Given the description of an element on the screen output the (x, y) to click on. 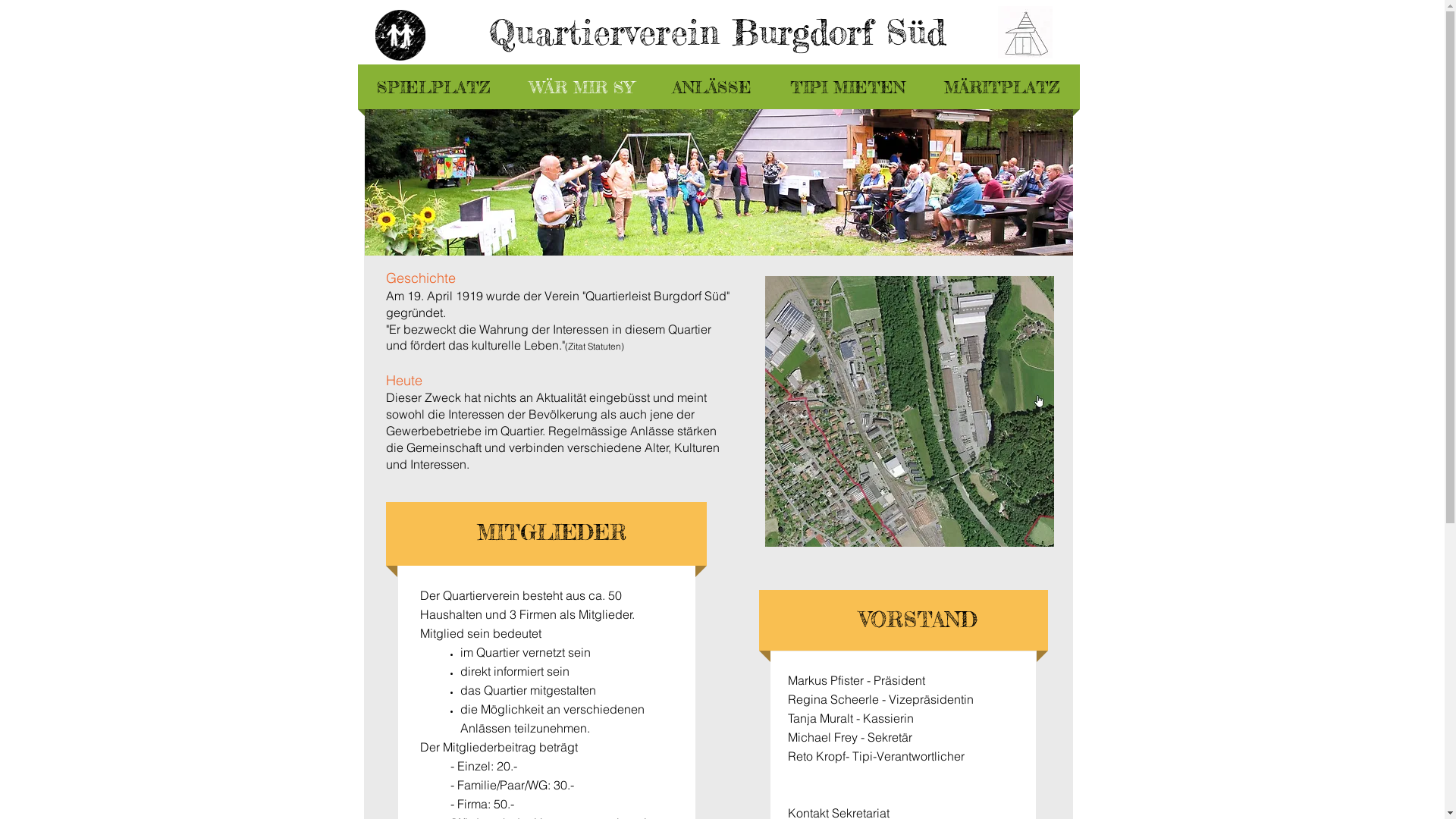
TIPI MIETEN Element type: text (847, 86)
SPIELPLATZ Element type: text (433, 86)
